Given the description of an element on the screen output the (x, y) to click on. 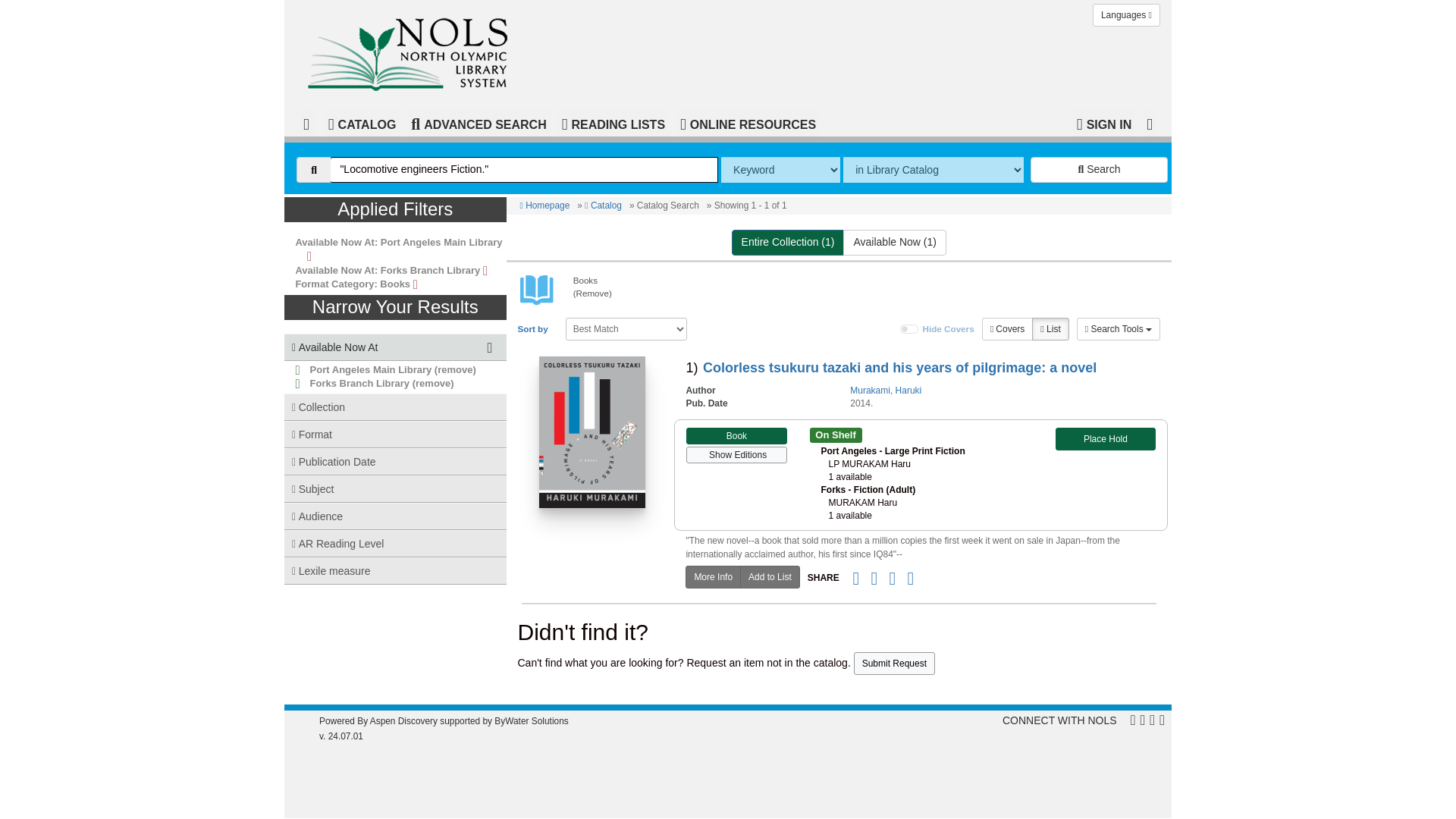
Login (1104, 122)
SIGN IN (1104, 122)
READING LISTS (612, 122)
The method of searching. (780, 169)
ONLINE RESOURCES (748, 122)
CATALOG (362, 122)
on (908, 328)
Languages  (1126, 15)
ADVANCED SEARCH (478, 122)
 Search (1098, 169)
Browse the Catalog (362, 122)
Homepage (413, 49)
"Locomotive engineers Fiction." (523, 169)
